Given the description of an element on the screen output the (x, y) to click on. 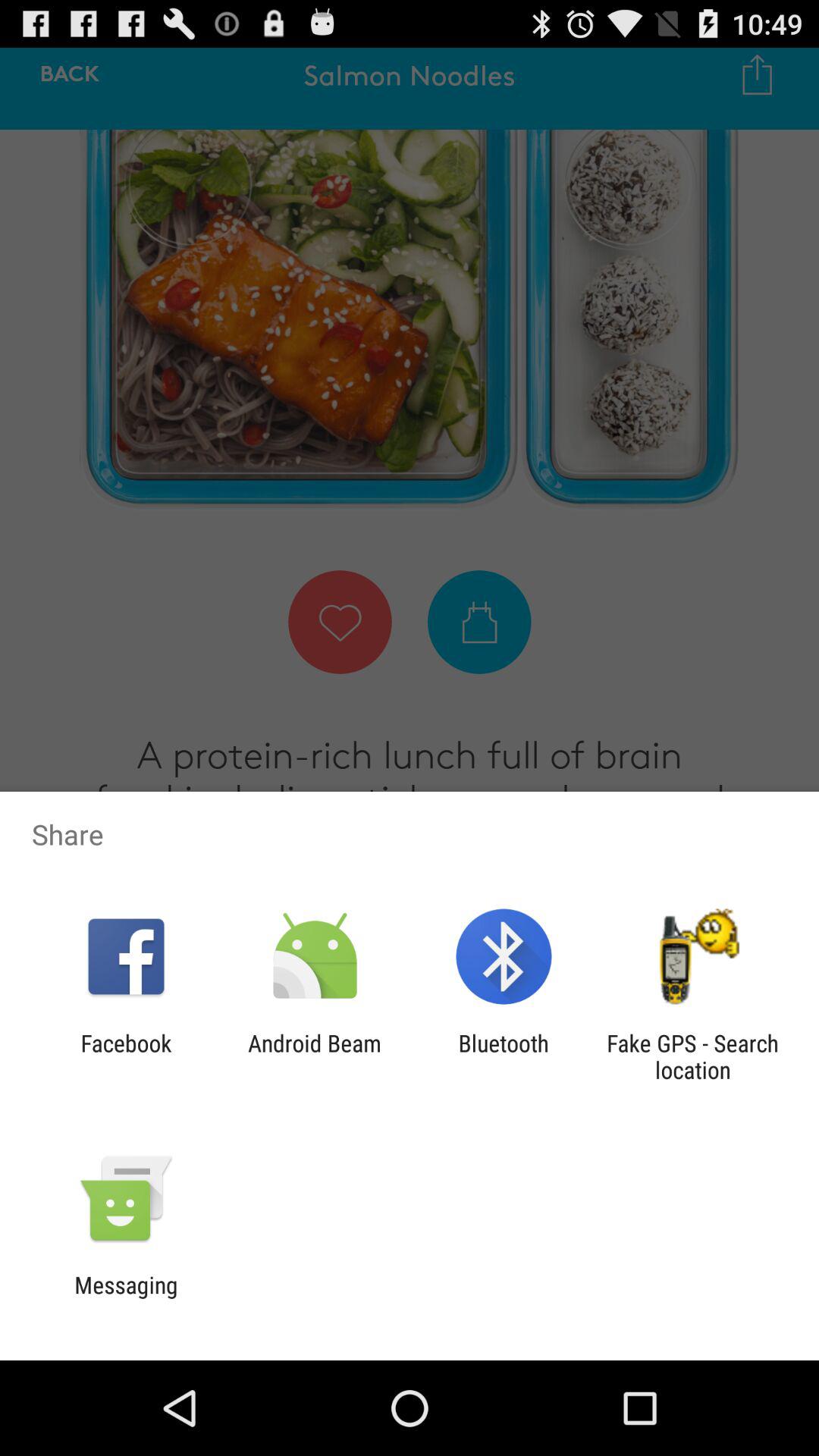
tap the item next to the fake gps search app (503, 1056)
